Given the description of an element on the screen output the (x, y) to click on. 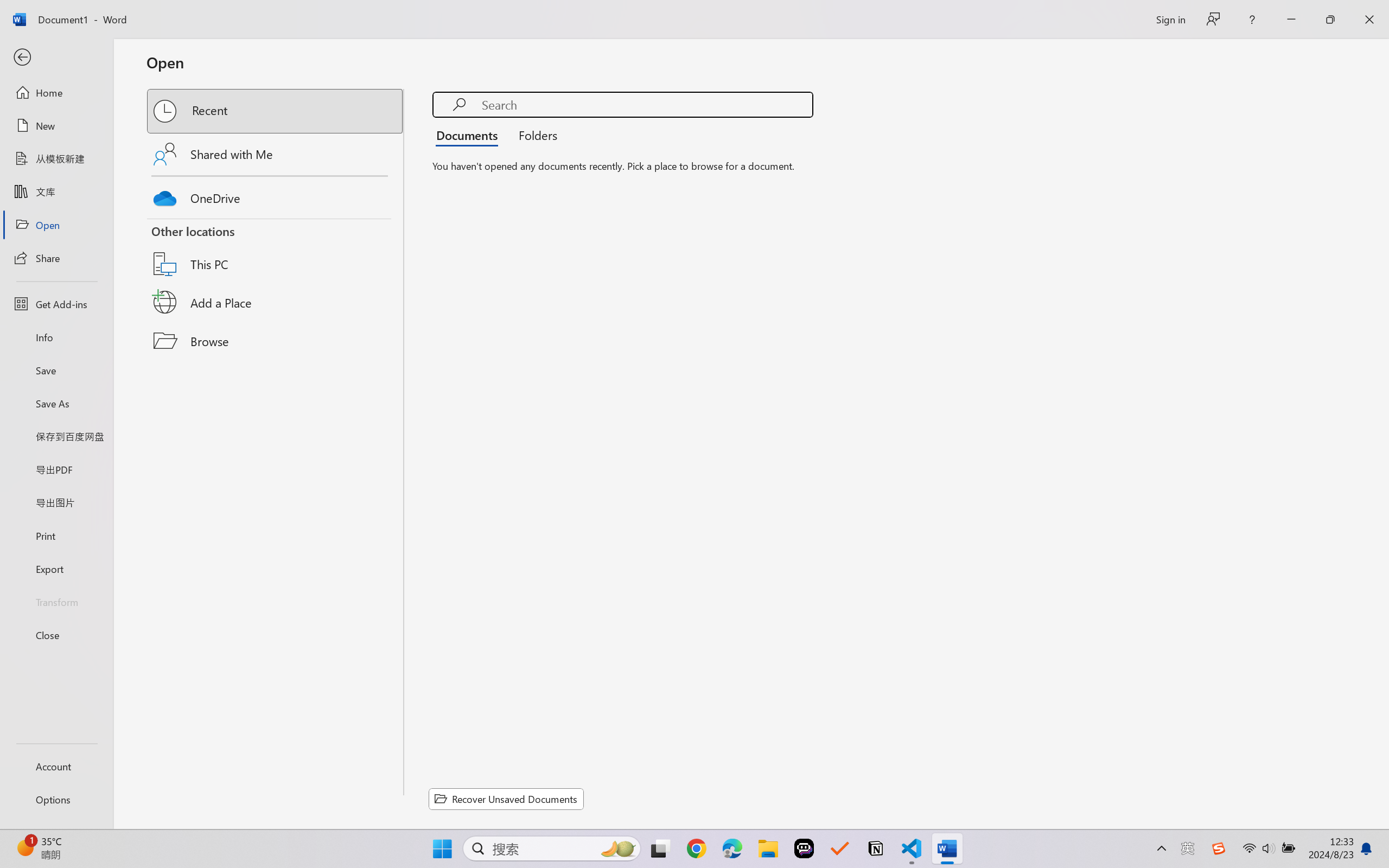
Transform (56, 601)
Info (56, 337)
Folders (534, 134)
This PC (275, 249)
Browse (275, 340)
